Given the description of an element on the screen output the (x, y) to click on. 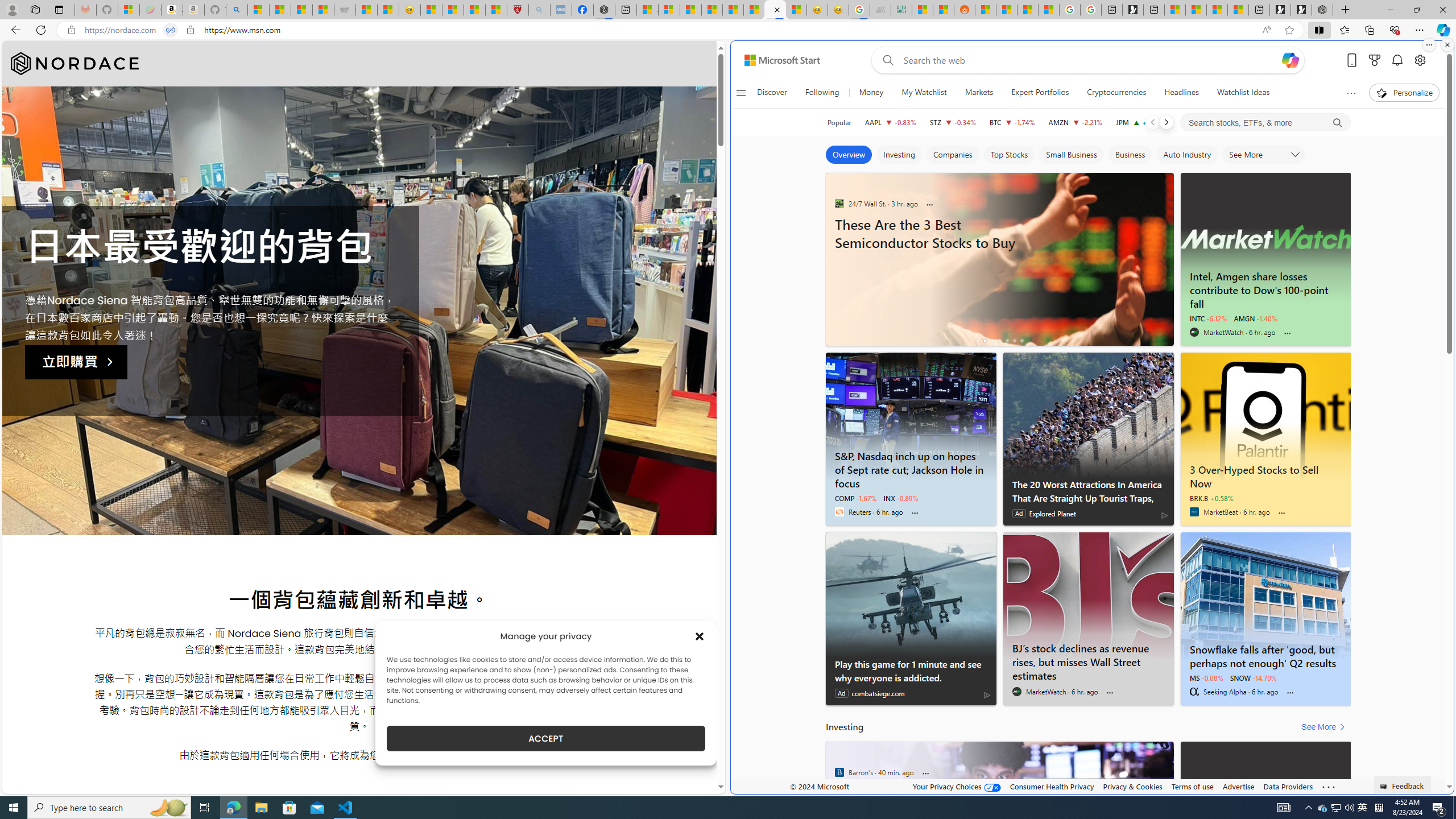
AdChoices (987, 694)
Robert H. Shmerling, MD - Harvard Health (517, 9)
Privacy & Cookies (1131, 786)
Web search (885, 60)
3 Over-Hyped Stocks to Sell Now - MarketBeat (1265, 474)
Top Stocks (1008, 154)
